Given the description of an element on the screen output the (x, y) to click on. 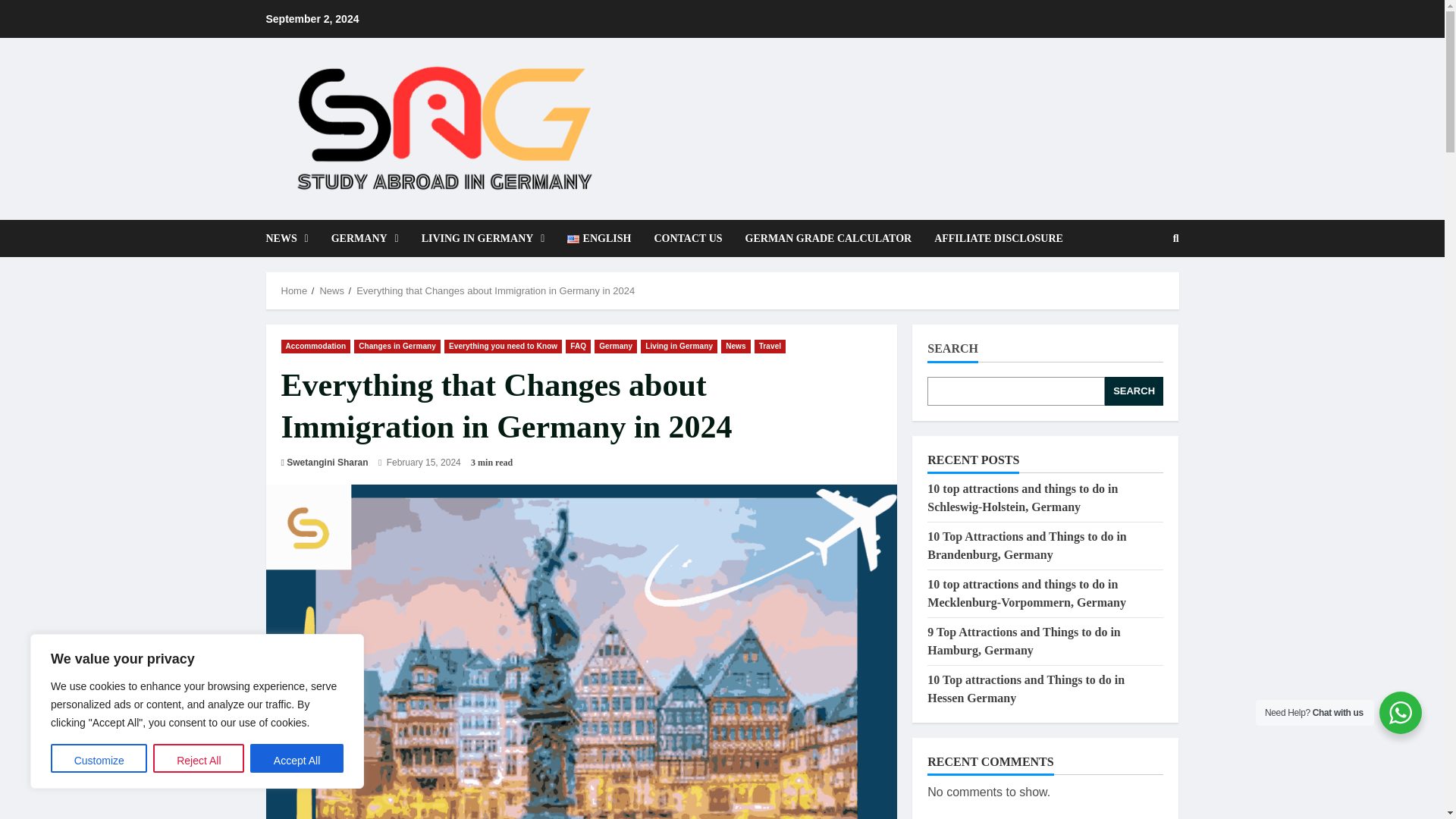
LIVING IN GERMANY (483, 238)
Customize (98, 758)
Reject All (198, 758)
GERMANY (365, 238)
Accept All (296, 758)
NEWS (291, 238)
